Given the description of an element on the screen output the (x, y) to click on. 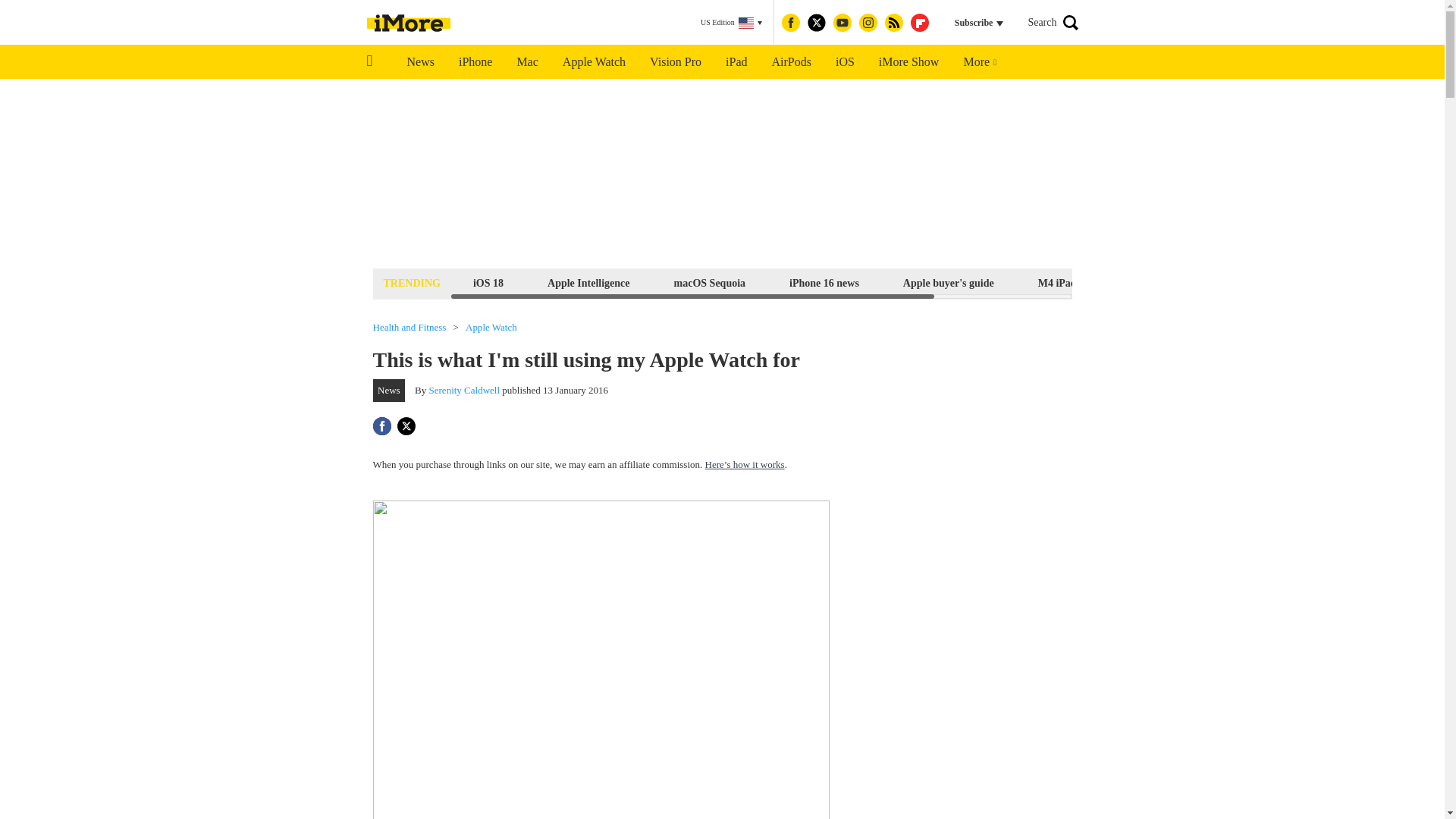
iOS (845, 61)
iPhone (474, 61)
iMore Show (909, 61)
Apple Watch (593, 61)
Mac (526, 61)
News (419, 61)
Vision Pro (675, 61)
AirPods (792, 61)
iPad (735, 61)
US Edition (731, 22)
